Given the description of an element on the screen output the (x, y) to click on. 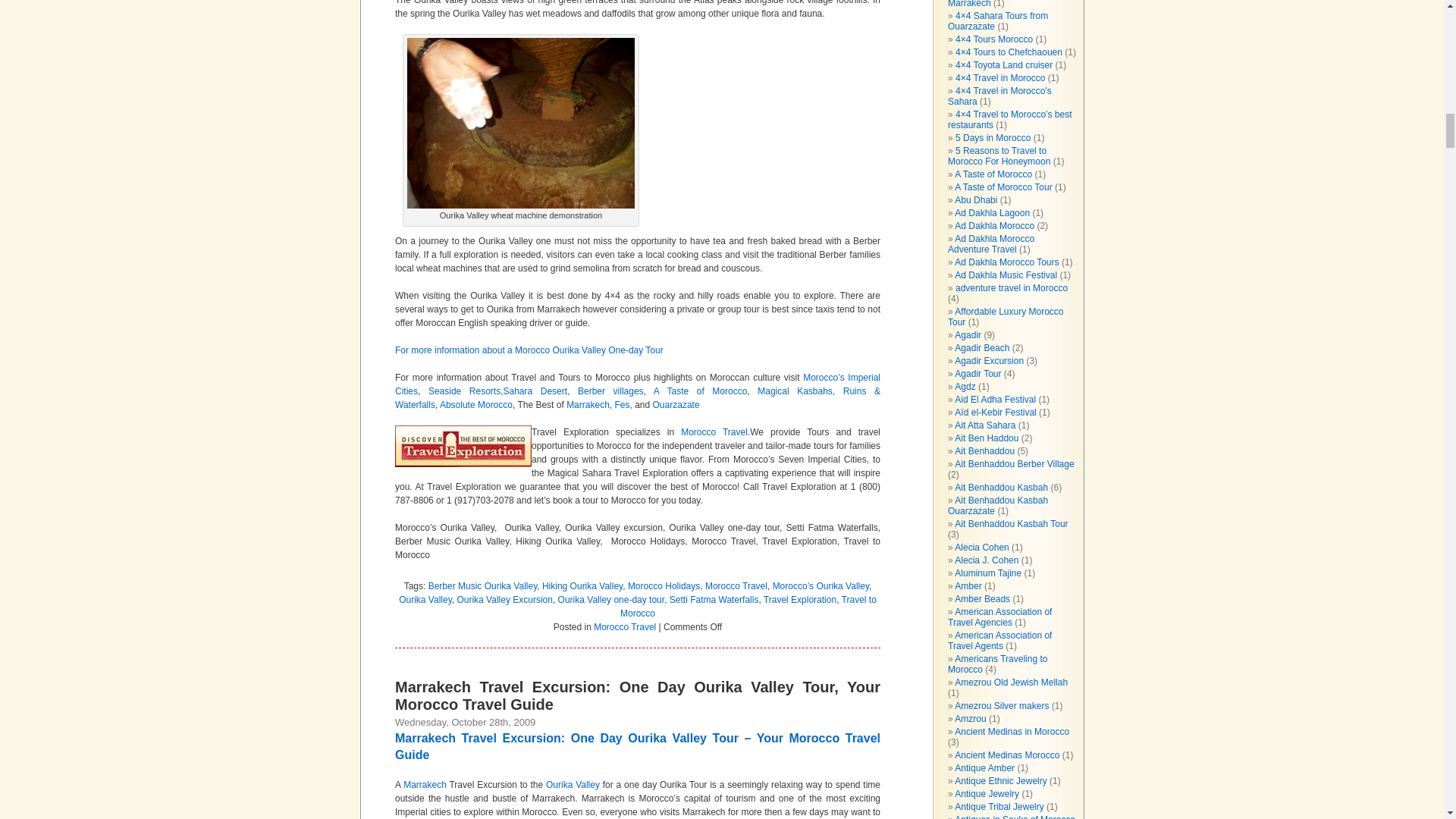
Ourika-Valley-Wheat-Machine-Demonstration (520, 122)
travel-exploration-signature-logo-link13 (462, 445)
